Given the description of an element on the screen output the (x, y) to click on. 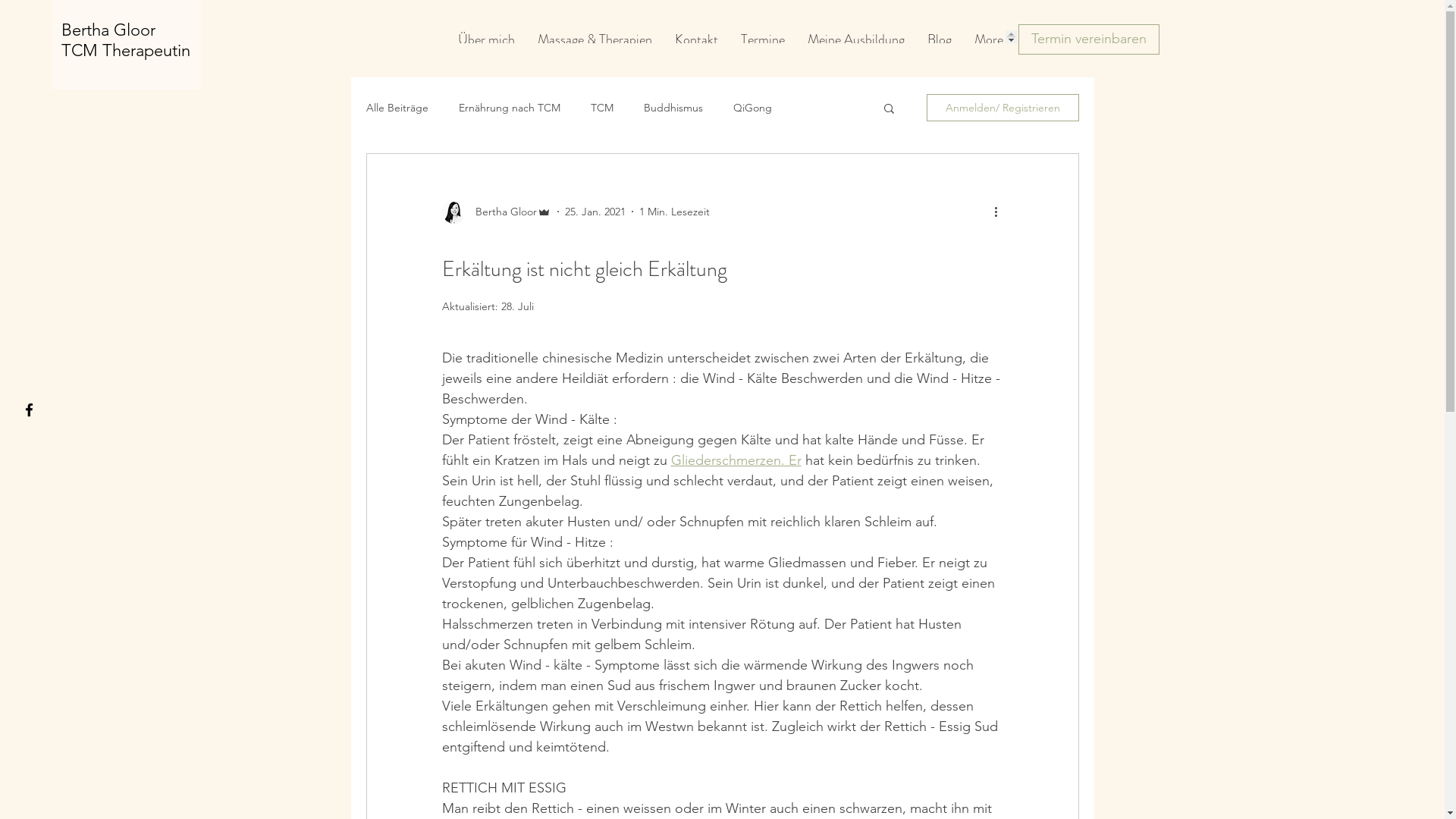
Massage & Therapien Element type: text (594, 36)
Termine Element type: text (762, 36)
Gliederschmerzen. Er Element type: text (735, 459)
Kontakt Element type: text (695, 36)
QiGong Element type: text (751, 107)
Blog Element type: text (939, 36)
Termin vereinbaren Element type: text (1087, 39)
Anmelden/ Registrieren Element type: text (1002, 107)
Buddhismus Element type: text (672, 107)
TCM Element type: text (600, 107)
Bertha Gloor
TCM Therapeutin Element type: text (125, 39)
Meine Ausbildung Element type: text (856, 36)
